Given the description of an element on the screen output the (x, y) to click on. 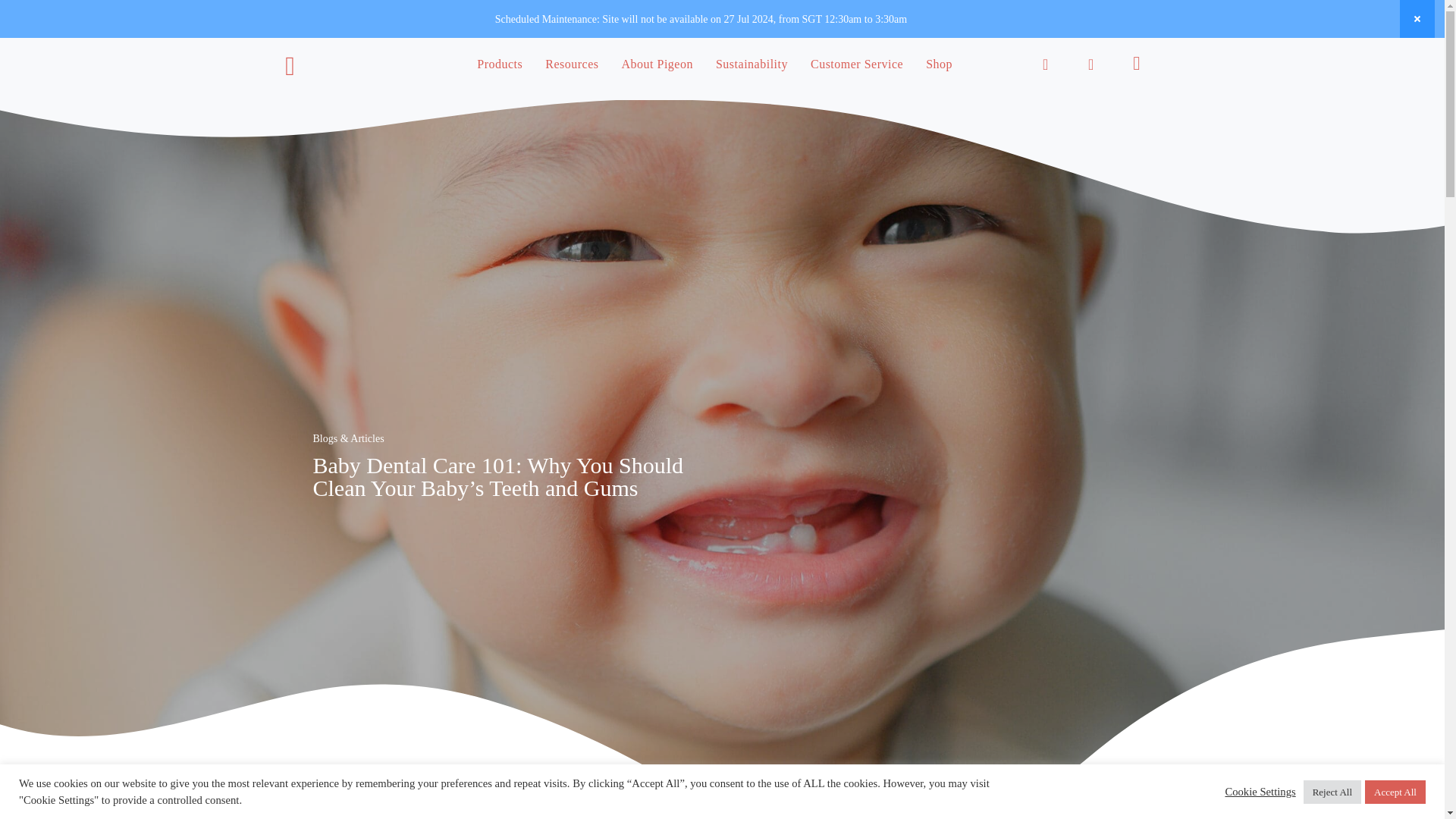
Sustainability (751, 68)
Products (499, 68)
Resources (572, 68)
About Pigeon (657, 68)
